Given the description of an element on the screen output the (x, y) to click on. 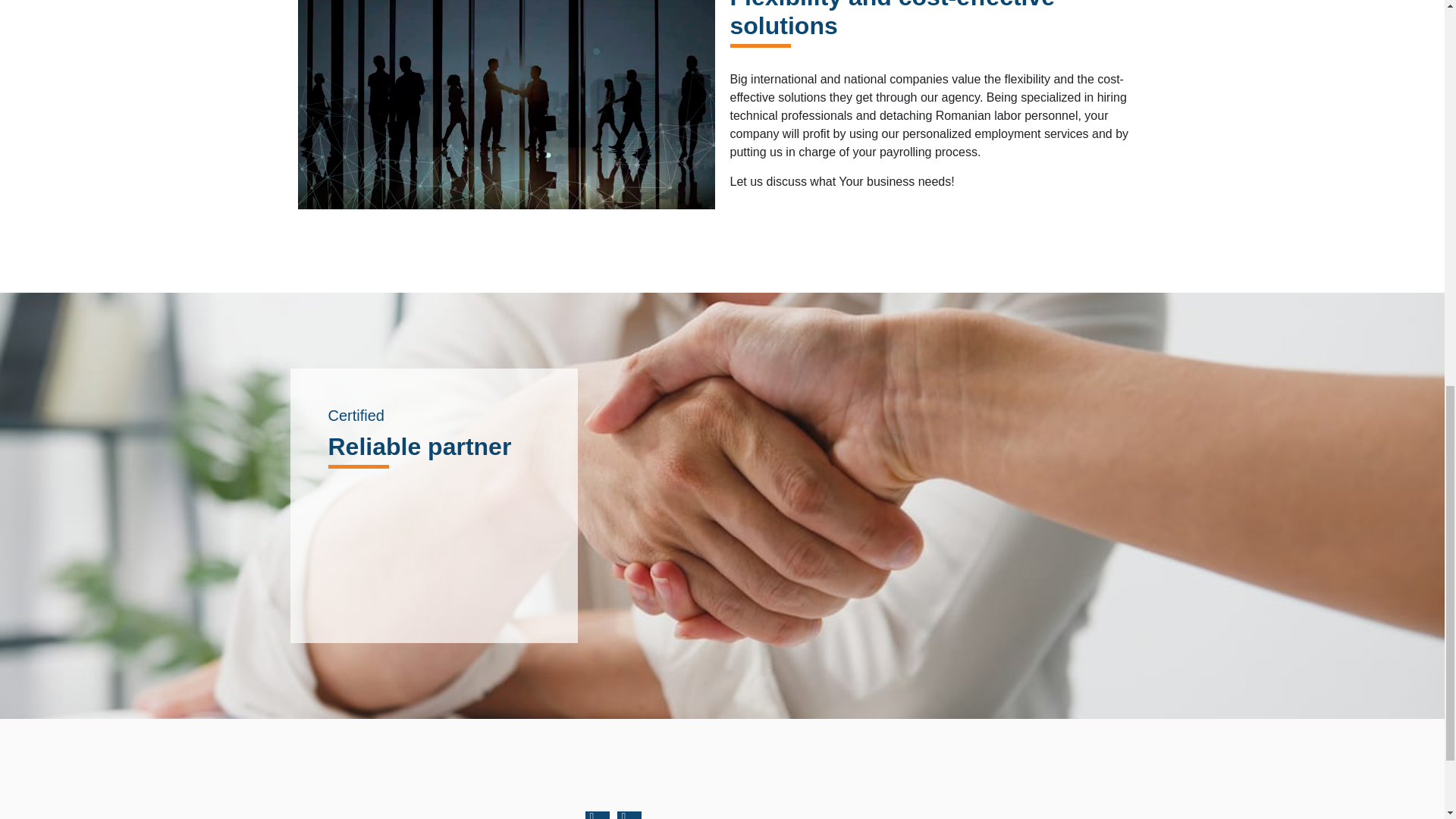
Privacy Policy (990, 813)
sna-logo-round (433, 548)
Cookie Policy (1095, 813)
